Given the description of an element on the screen output the (x, y) to click on. 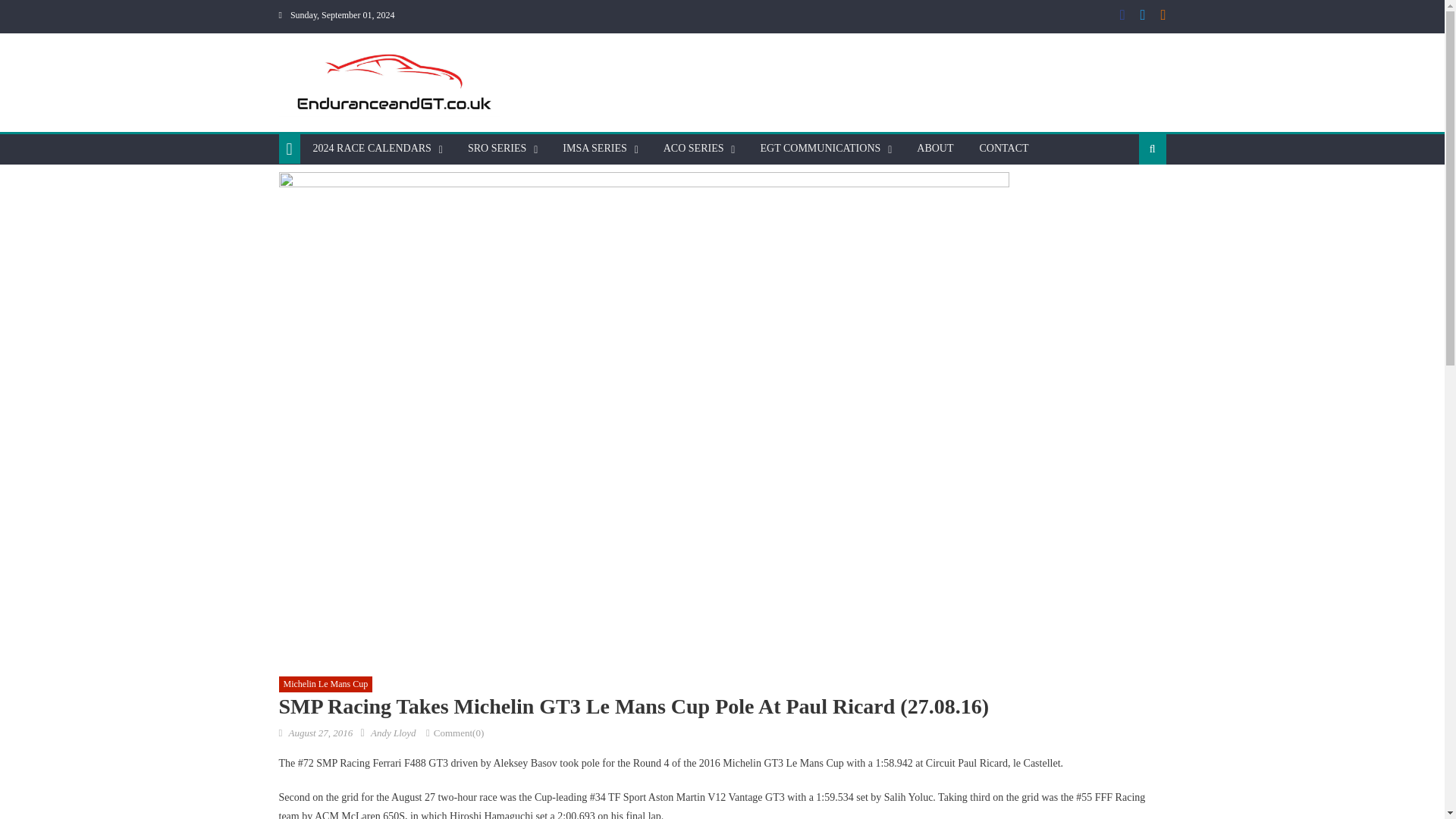
SRO SERIES (497, 148)
ACO SERIES (693, 148)
EGT COMMUNICATIONS (819, 148)
2024 RACE CALENDARS (371, 148)
IMSA SERIES (594, 148)
